Given the description of an element on the screen output the (x, y) to click on. 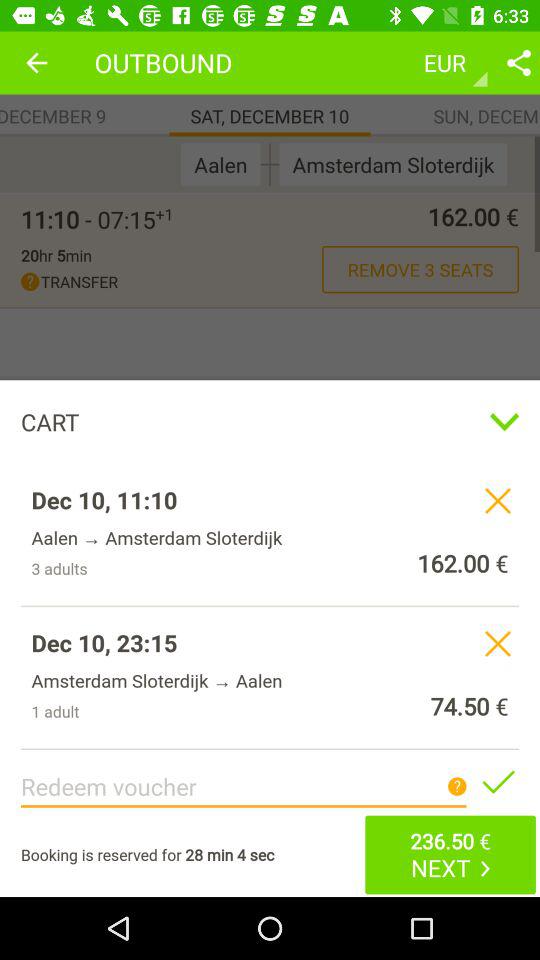
setting (519, 62)
